Given the description of an element on the screen output the (x, y) to click on. 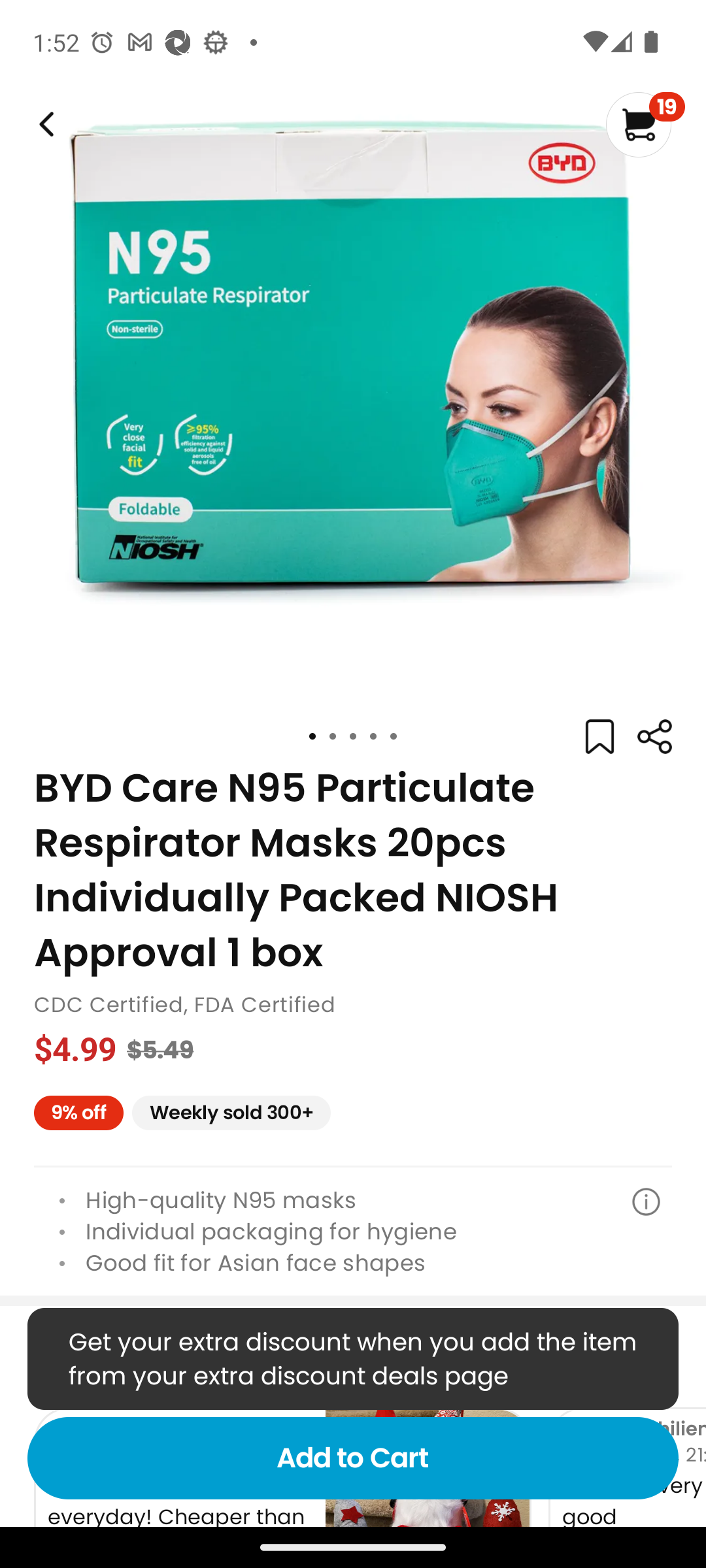
19 (644, 124)
Weee! (45, 124)
Weee! (653, 736)
Add to Cart (352, 1458)
